Given the description of an element on the screen output the (x, y) to click on. 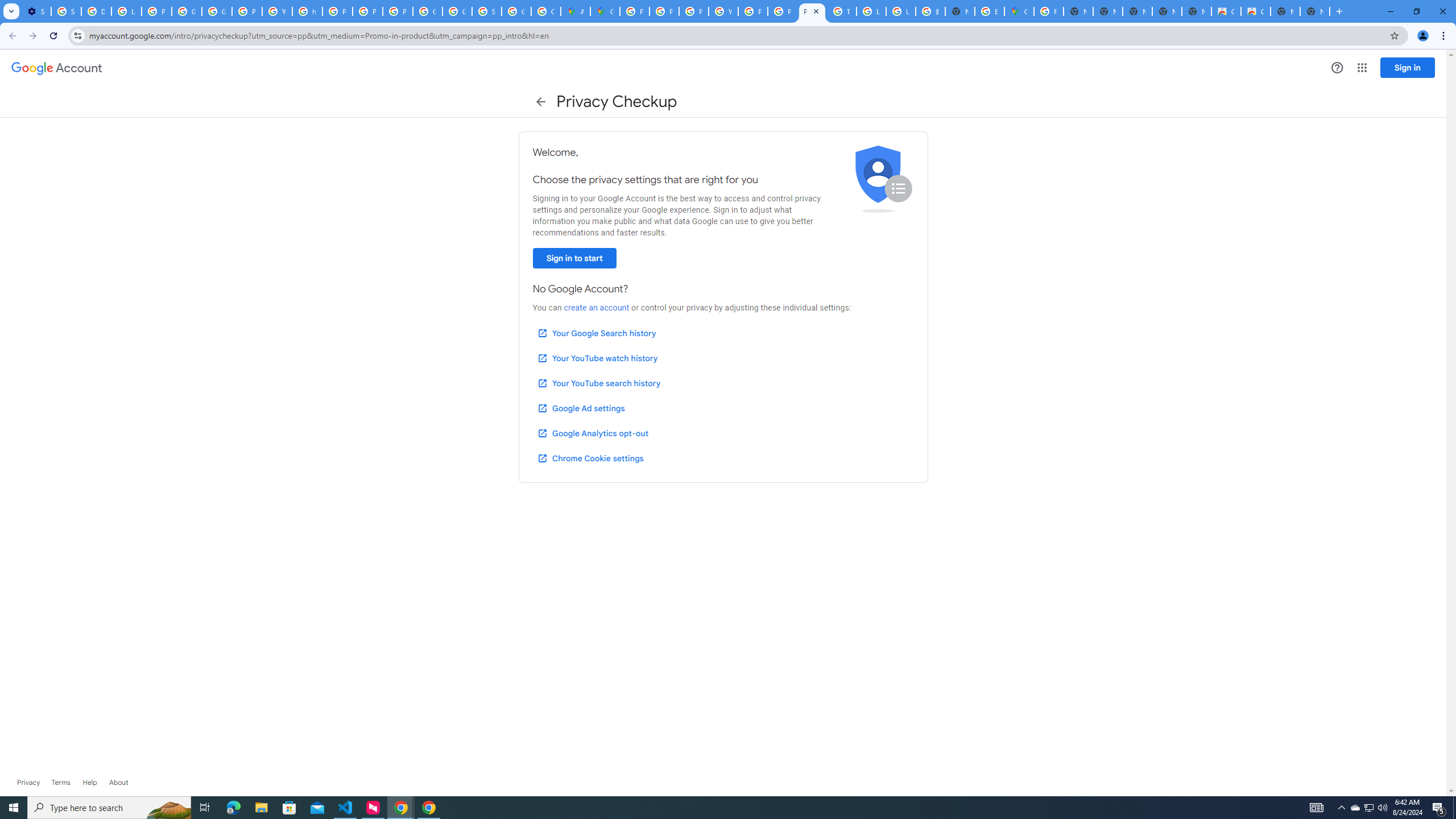
Privacy Checkup (782, 11)
Delete photos & videos - Computer - Google Photos Help (95, 11)
Classic Blue - Chrome Web Store (1255, 11)
Sign in to start (573, 258)
Privacy Checkup (811, 11)
